Given the description of an element on the screen output the (x, y) to click on. 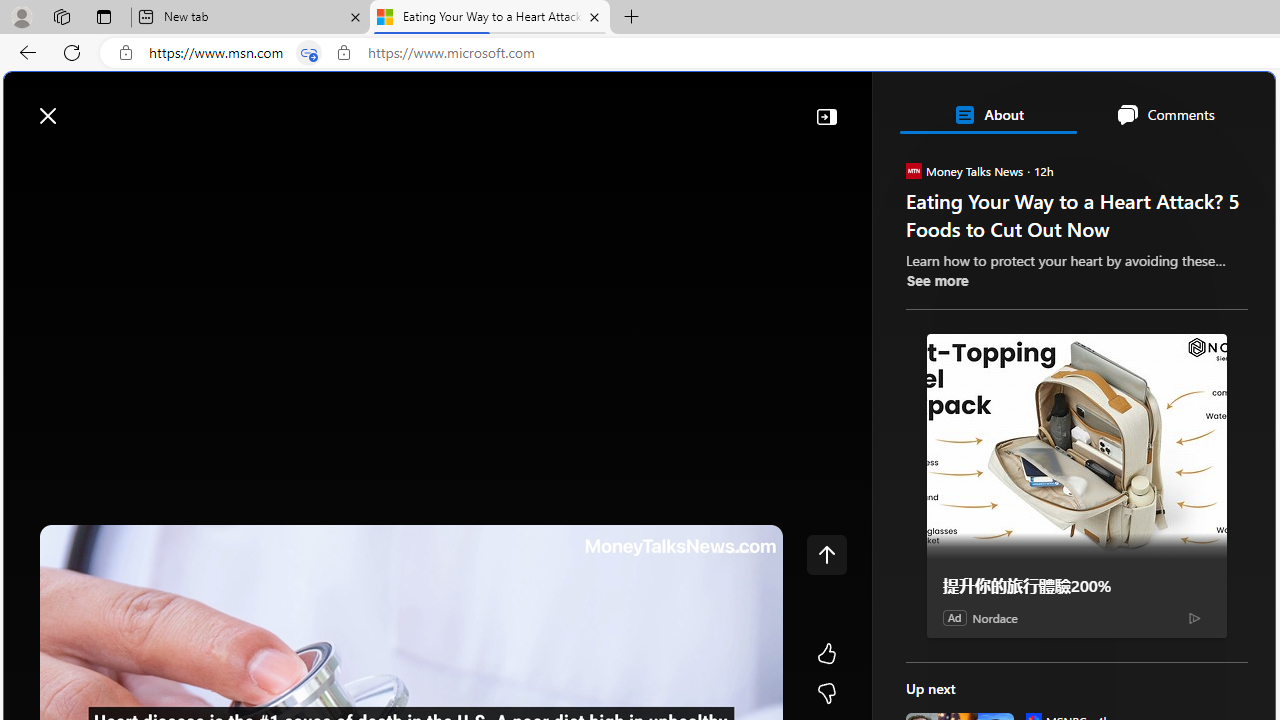
Eating Your Way to a Heart Attack? 5 Foods to Cut Out Now (490, 17)
About (987, 114)
The Associated Press (974, 645)
Personalized for You (1084, 288)
